Given the description of an element on the screen output the (x, y) to click on. 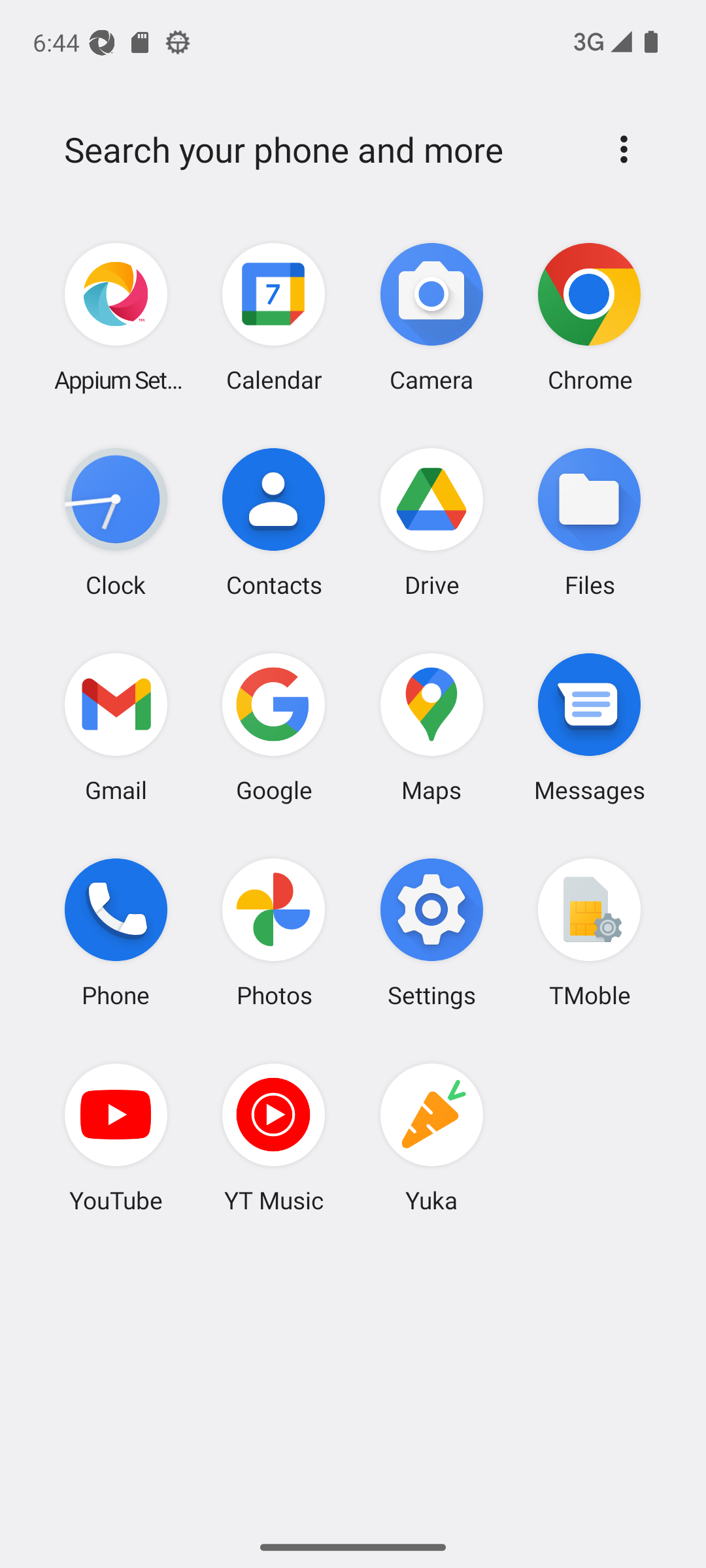
Search your phone and more (321, 149)
Preferences (623, 149)
Appium Settings (115, 317)
Calendar (273, 317)
Camera (431, 317)
Chrome (589, 317)
Clock (115, 522)
Contacts (273, 522)
Drive (431, 522)
Files (589, 522)
Gmail (115, 726)
Google (273, 726)
Maps (431, 726)
Messages (589, 726)
Phone (115, 931)
Photos (273, 931)
Settings (431, 931)
TMoble (589, 931)
YouTube (115, 1137)
YT Music (273, 1137)
Yuka (431, 1137)
